Given the description of an element on the screen output the (x, y) to click on. 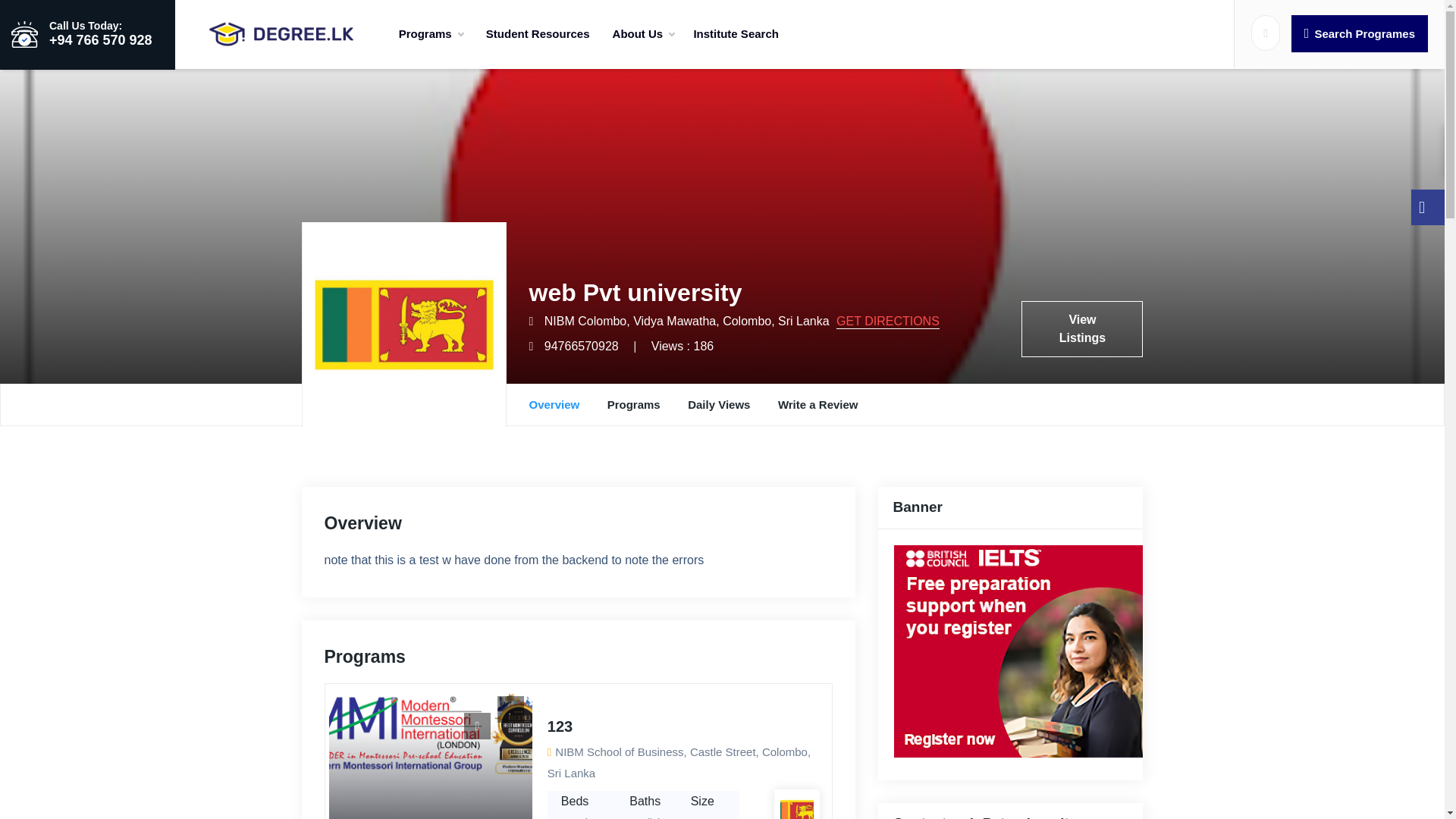
Overview (554, 404)
Write a Review (818, 404)
Programs (430, 33)
Daily Views (718, 404)
94766570928 (581, 345)
About Us (643, 33)
Student Resources (537, 33)
GET DIRECTIONS (887, 321)
Programs (634, 404)
View Listings (1082, 329)
